Given the description of an element on the screen output the (x, y) to click on. 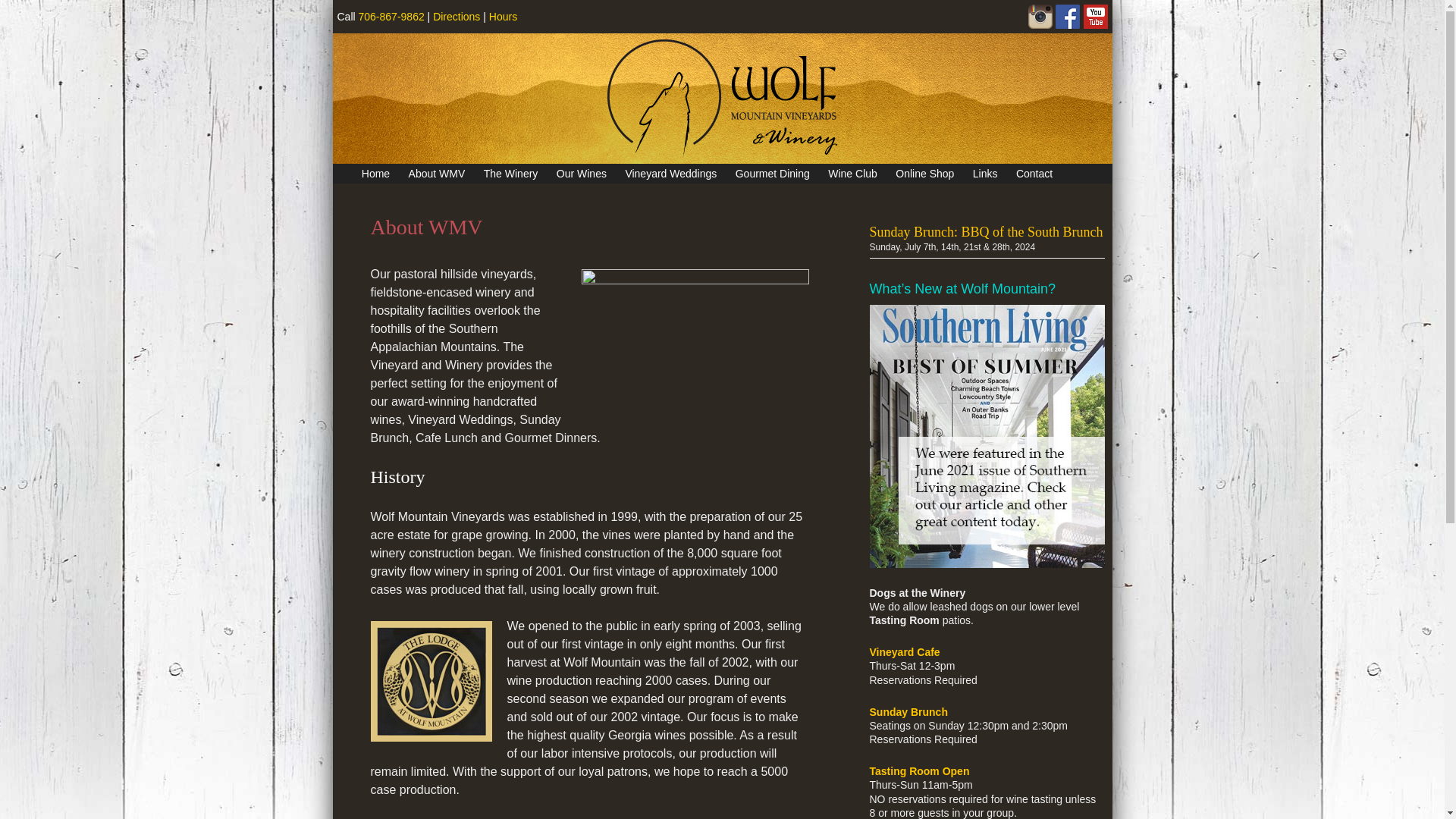
706-867-9862 (391, 16)
About WMV (437, 173)
Home (375, 173)
Our Weddings (729, 195)
Hours (502, 16)
Wolf Mountain Vineyards (512, 195)
Sunday Brunch (839, 195)
Vineyard Weddings (670, 173)
Our Wines (660, 195)
Permalink to Sunday Brunch: BBQ of the South Brunch (985, 231)
Directions (456, 16)
The Winery (510, 173)
The Winery (587, 195)
Gourmet Dining (772, 173)
